Given the description of an element on the screen output the (x, y) to click on. 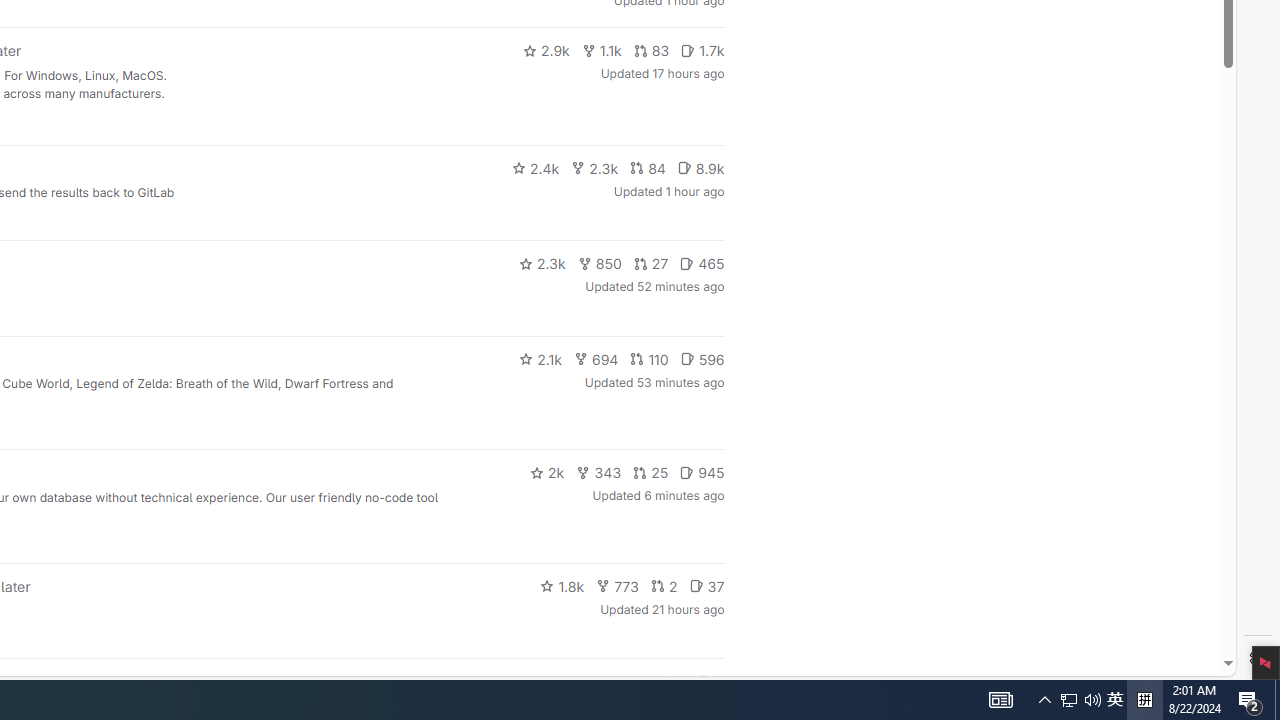
2.1k (539, 358)
1.7k (702, 50)
84 (647, 167)
2.3k (541, 263)
Notification Chevron (1044, 699)
465 (701, 263)
8.9k (700, 167)
2.9k (545, 50)
945 (701, 472)
37 (706, 585)
1.4k (573, 681)
2.4k (535, 167)
110 (649, 358)
2k (546, 472)
